Given the description of an element on the screen output the (x, y) to click on. 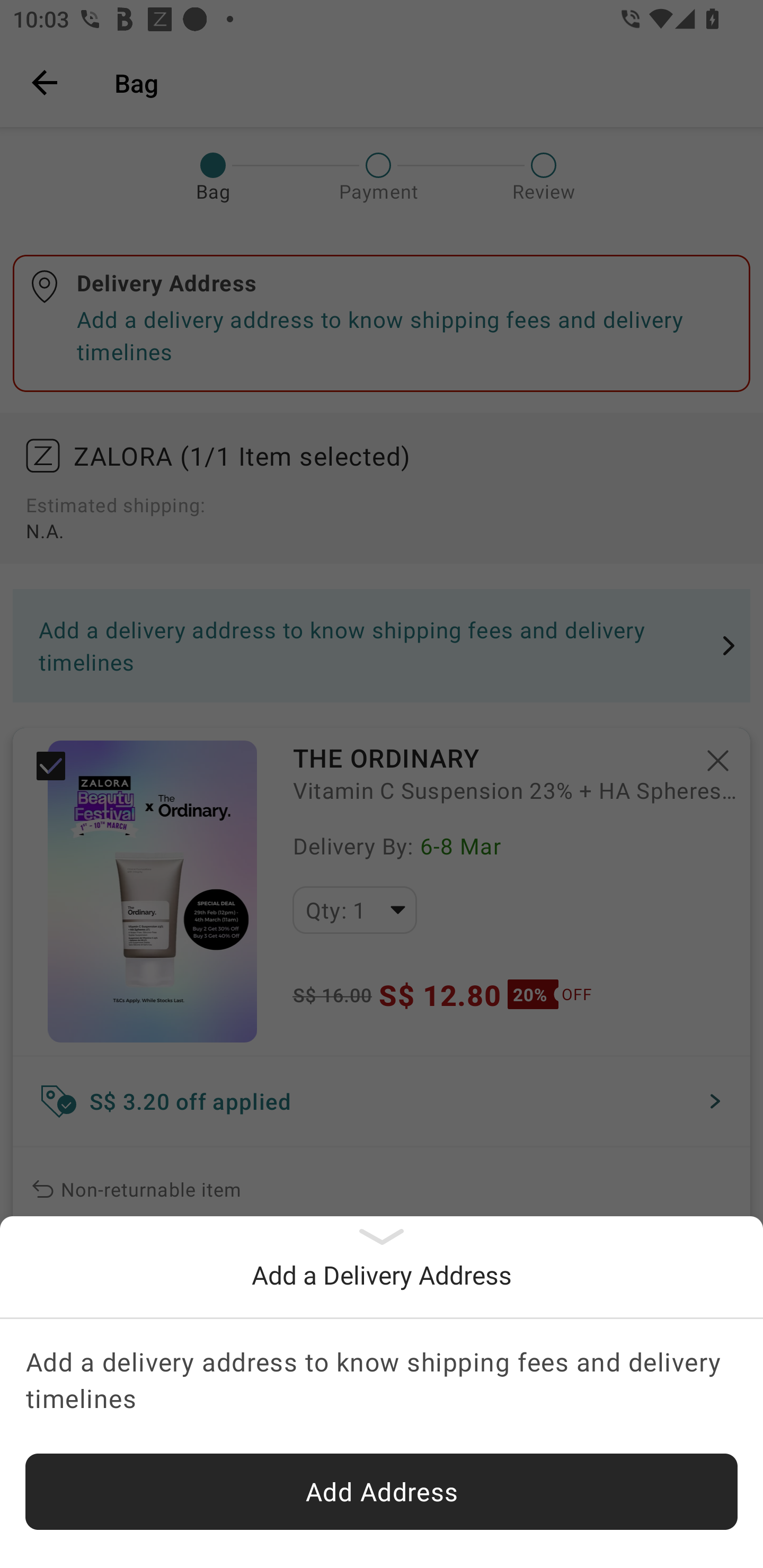
Add Address (381, 1491)
